Given the description of an element on the screen output the (x, y) to click on. 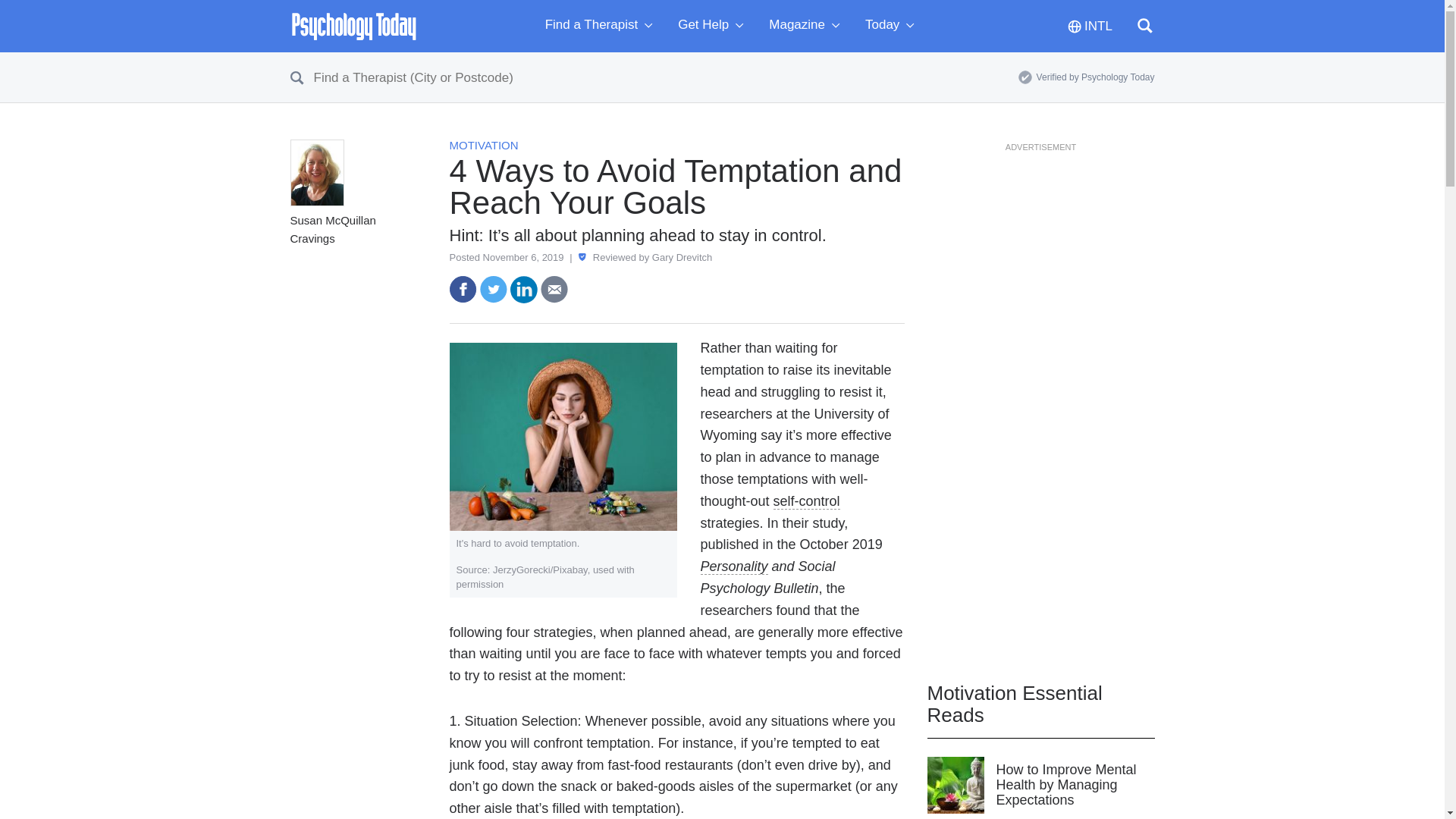
Psychology Today (352, 25)
Find a Therapist (602, 25)
Get Help (714, 25)
